Given the description of an element on the screen output the (x, y) to click on. 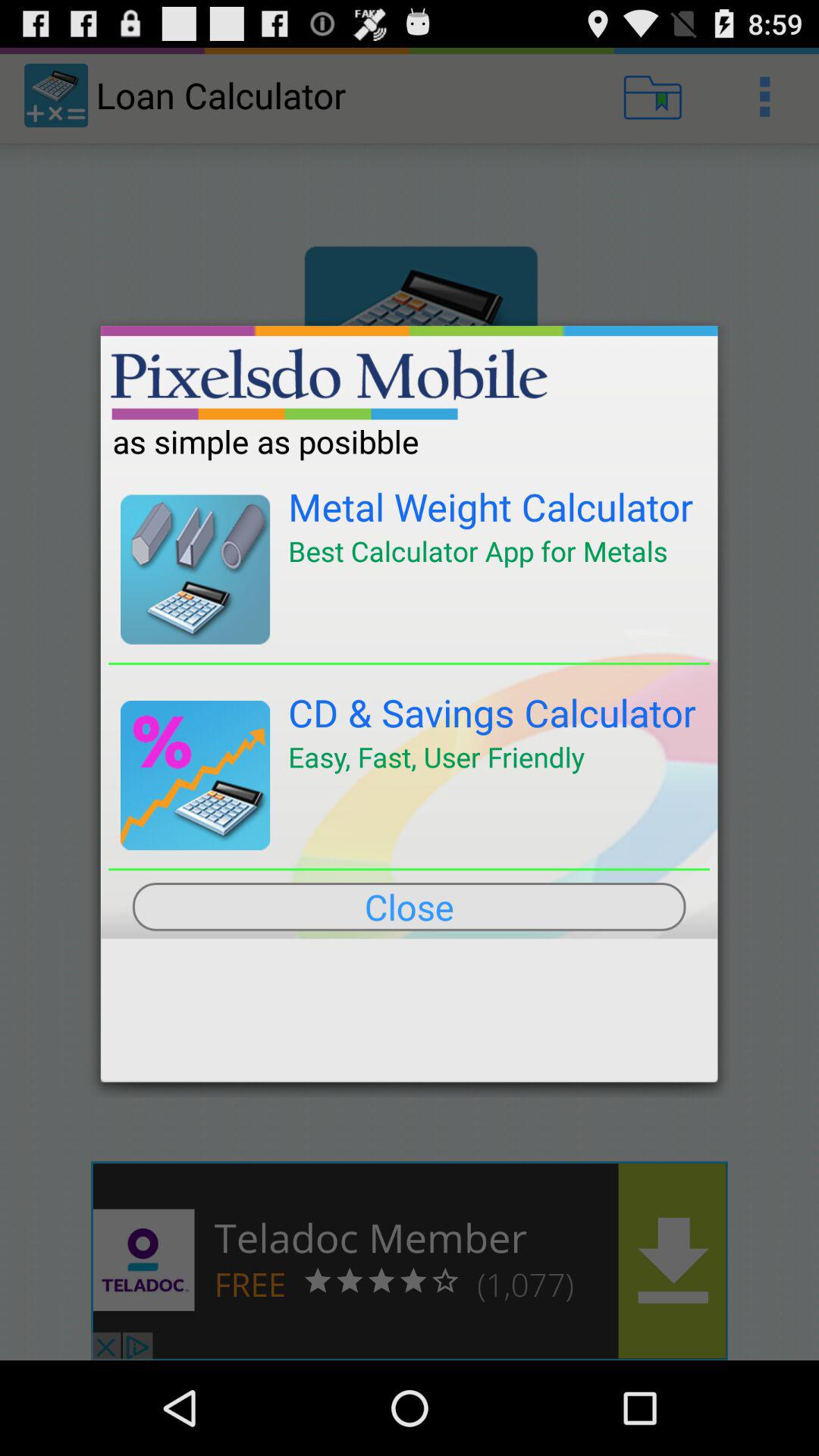
click easy fast user item (436, 756)
